Given the description of an element on the screen output the (x, y) to click on. 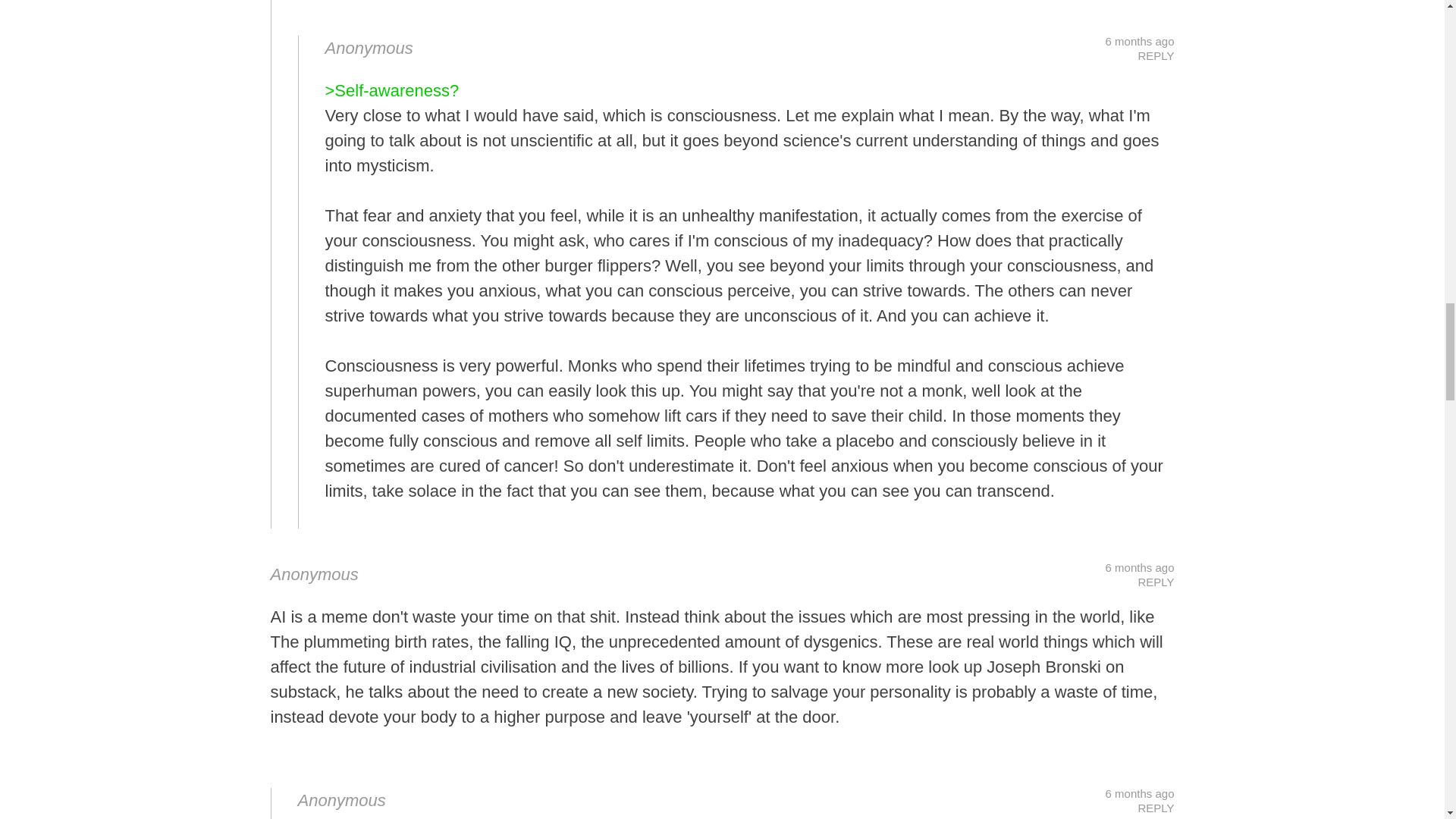
REPLY (1155, 581)
REPLY (1155, 807)
REPLY (1155, 55)
